Given the description of an element on the screen output the (x, y) to click on. 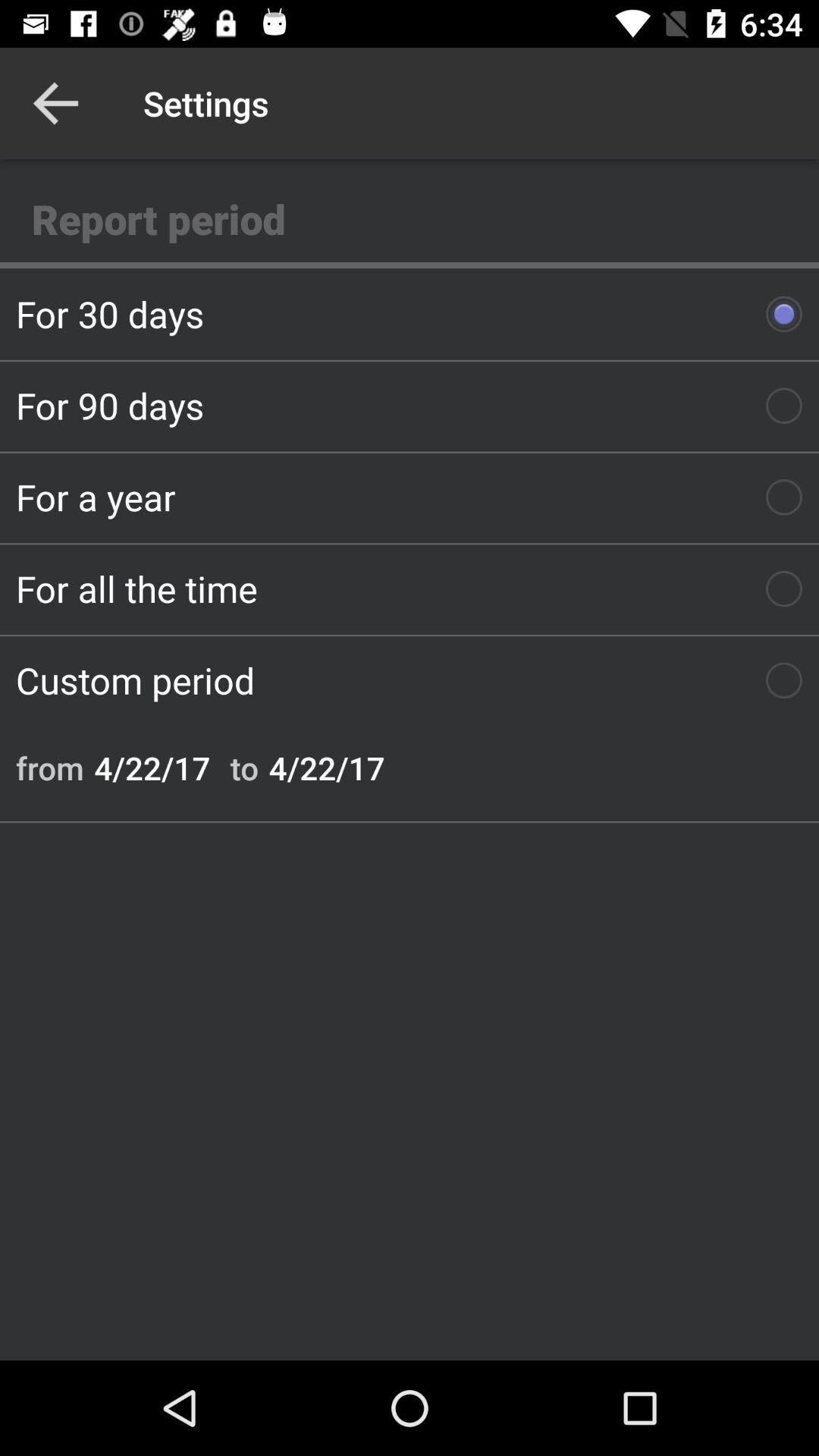
back (55, 103)
